Given the description of an element on the screen output the (x, y) to click on. 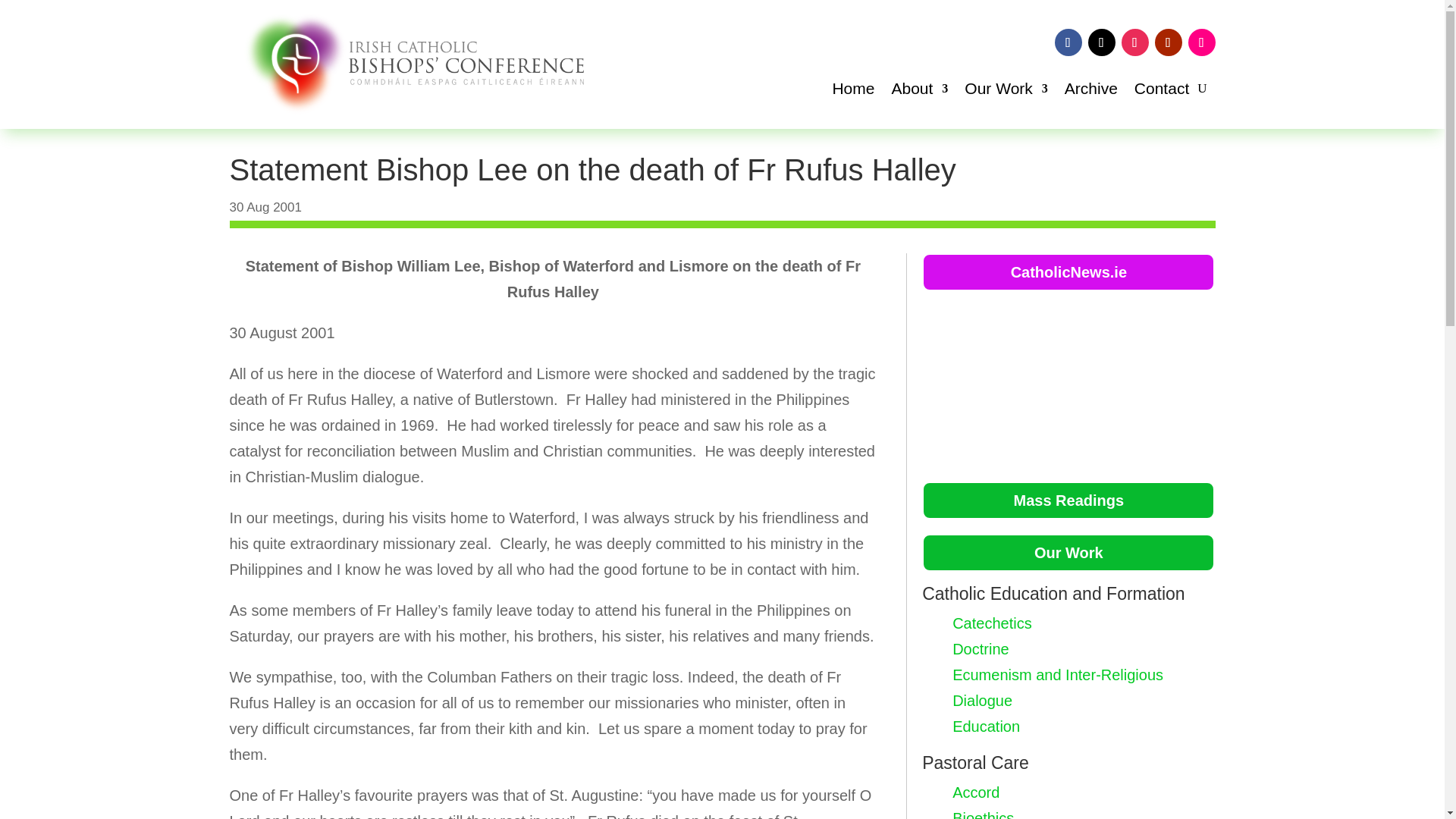
About (919, 91)
logo (405, 64)
Our Work (1004, 91)
Follow on Youtube (1167, 42)
Follow on X (1101, 42)
Follow on Facebook (1067, 42)
Home (853, 91)
Follow on Flickr (1201, 42)
Follow on Instagram (1134, 42)
